Given the description of an element on the screen output the (x, y) to click on. 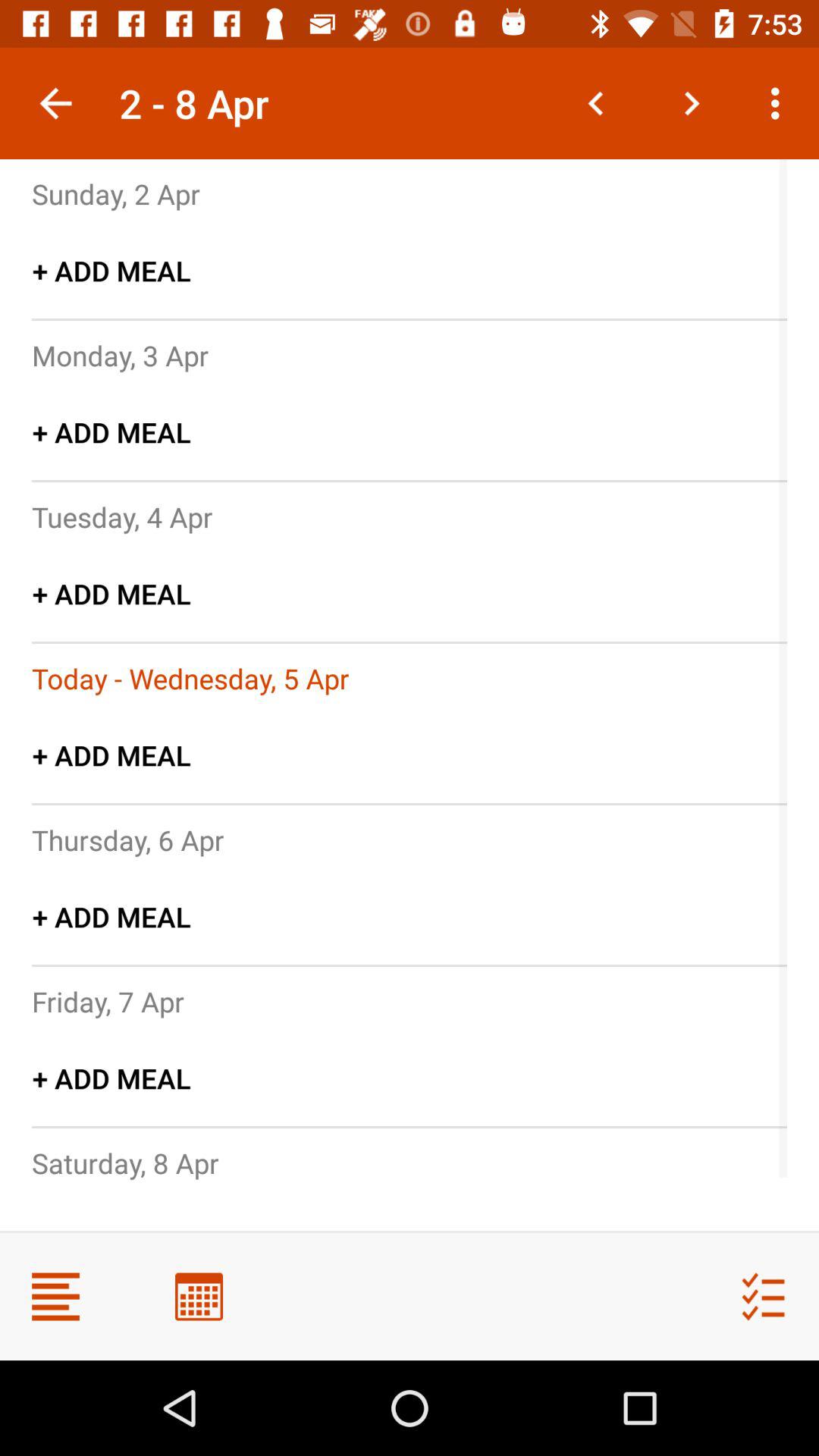
open calendar (198, 1296)
